Given the description of an element on the screen output the (x, y) to click on. 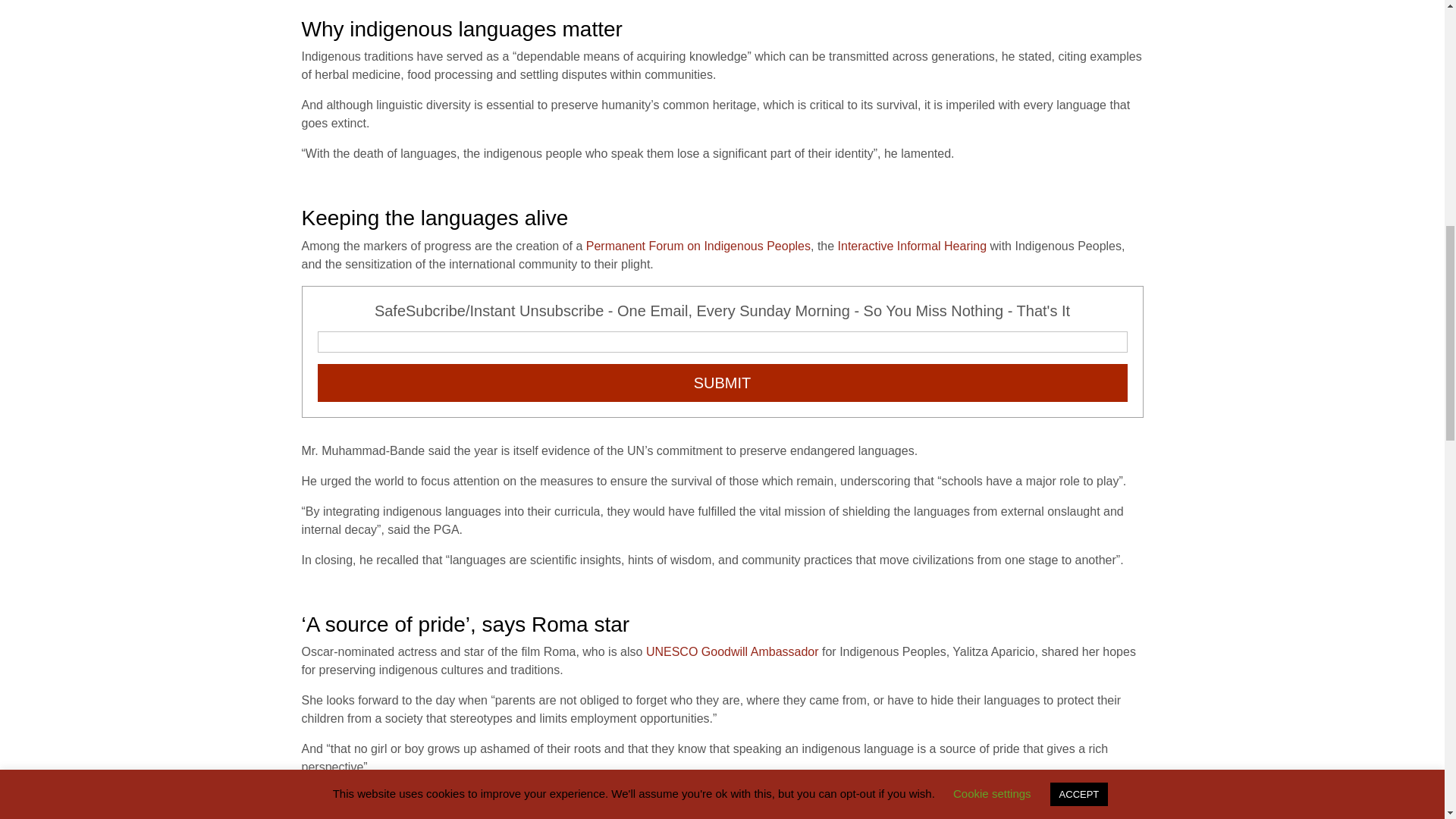
SUBMIT (721, 382)
Permanent Forum on Indigenous Peoples (698, 245)
UNESCO (806, 797)
Goodwill Ambassador (759, 651)
Interactive Informal Hearing (912, 245)
UNESCO (671, 651)
